Given the description of an element on the screen output the (x, y) to click on. 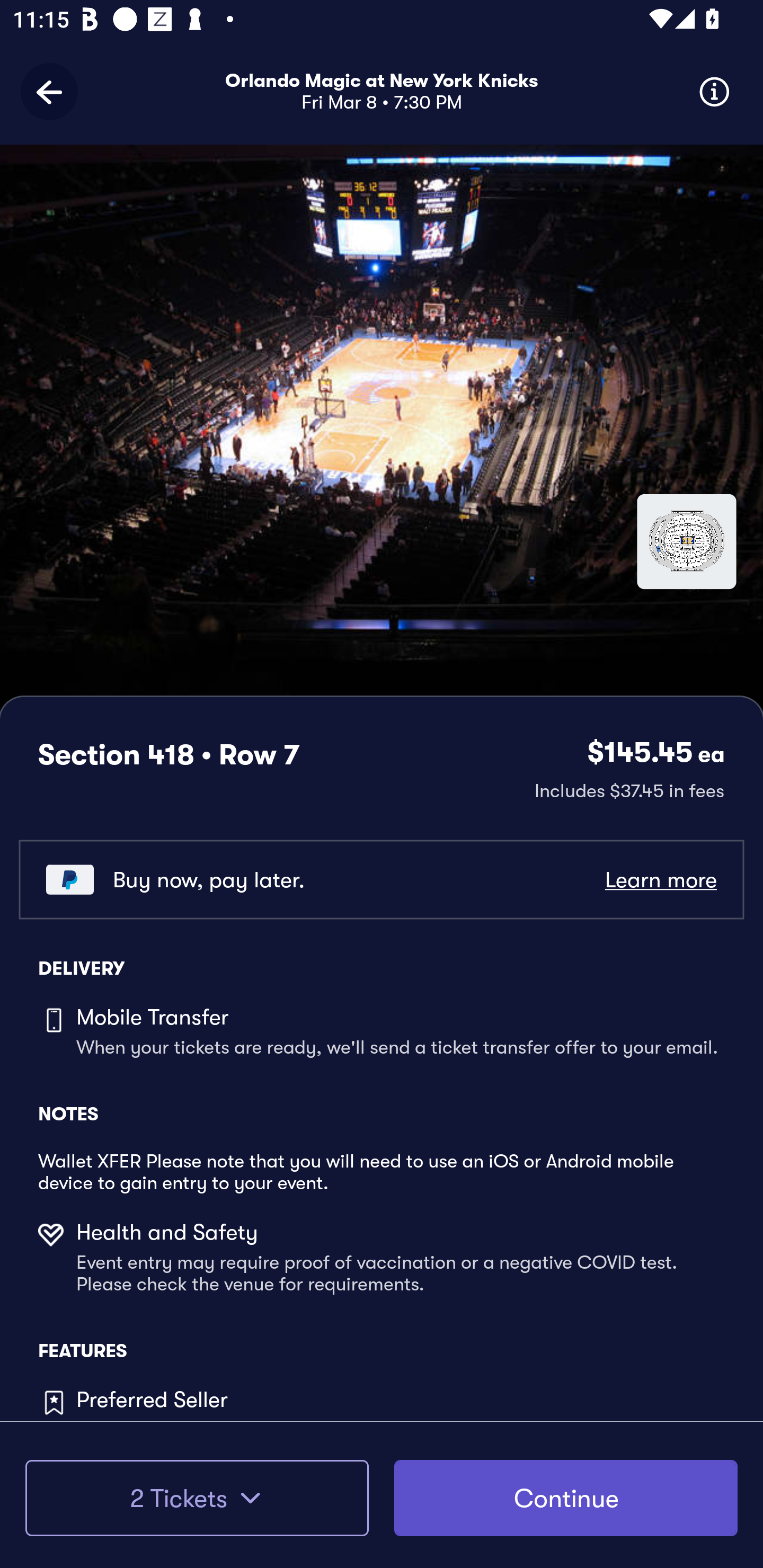
Learn more (660, 880)
2 Tickets (196, 1497)
Continue (565, 1497)
